Given the description of an element on the screen output the (x, y) to click on. 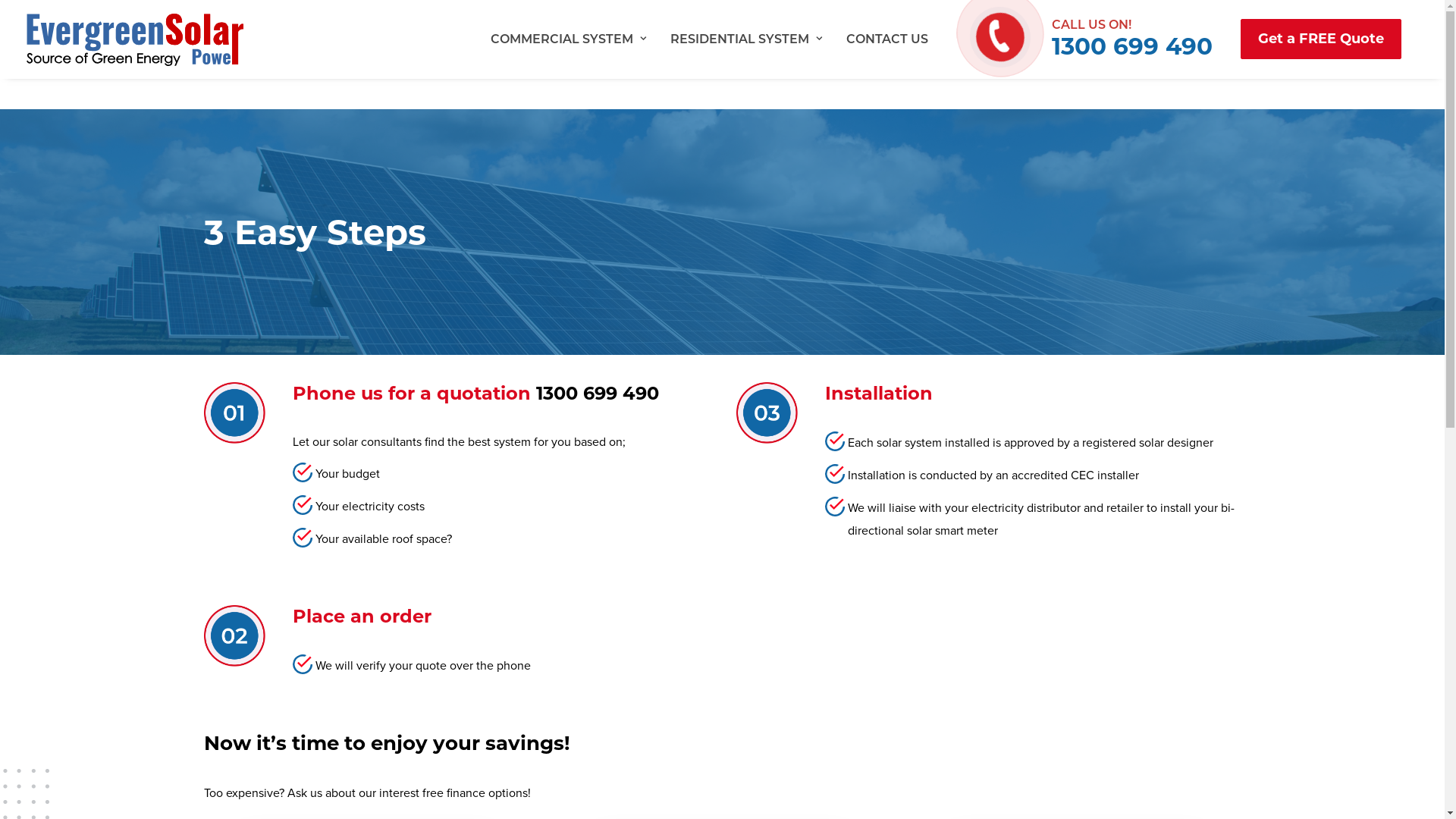
Get a FREE Quote Element type: text (1314, 38)
COMMERCIAL SYSTEM Element type: text (568, 39)
RESIDENTIAL SYSTEM Element type: text (745, 39)
CONTACT US Element type: text (881, 39)
CALL US ON! Element type: text (1131, 24)
1300 699 490 Element type: text (1131, 45)
1300 699 490 Element type: text (596, 393)
